Given the description of an element on the screen output the (x, y) to click on. 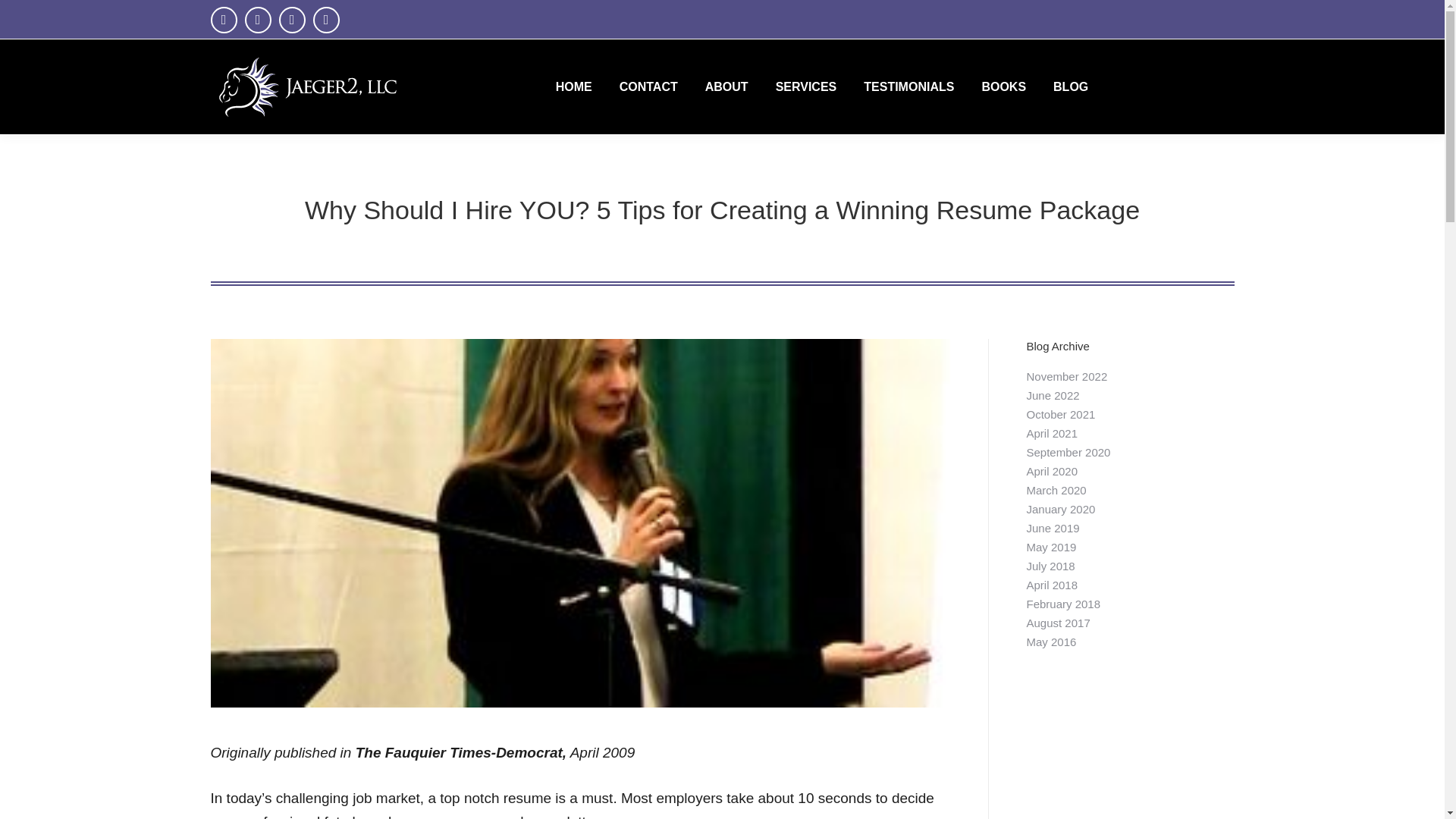
YouTube page opens in new window (326, 19)
Twitter page opens in new window (257, 19)
Linkedin page opens in new window (292, 19)
Facebook page opens in new window (224, 19)
TESTIMONIALS (908, 86)
Linkedin page opens in new window (292, 19)
YouTube page opens in new window (326, 19)
CONTACT (648, 86)
SERVICES (806, 86)
Facebook page opens in new window (224, 19)
Twitter page opens in new window (257, 19)
